Given the description of an element on the screen output the (x, y) to click on. 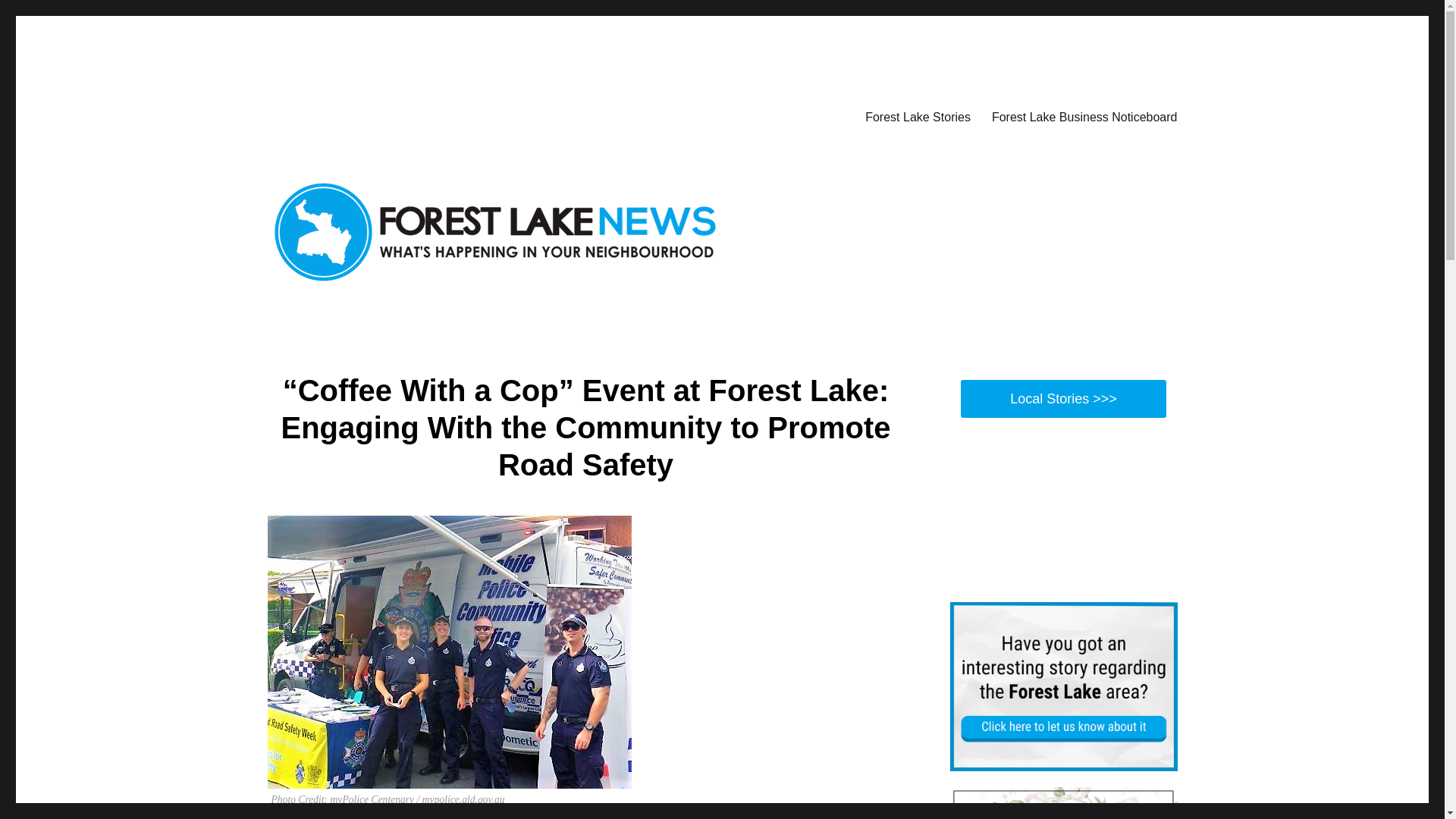
Forest Lake News (356, 114)
Forest Lake Stories (917, 116)
Forest Lake Business Noticeboard (1084, 116)
